Given the description of an element on the screen output the (x, y) to click on. 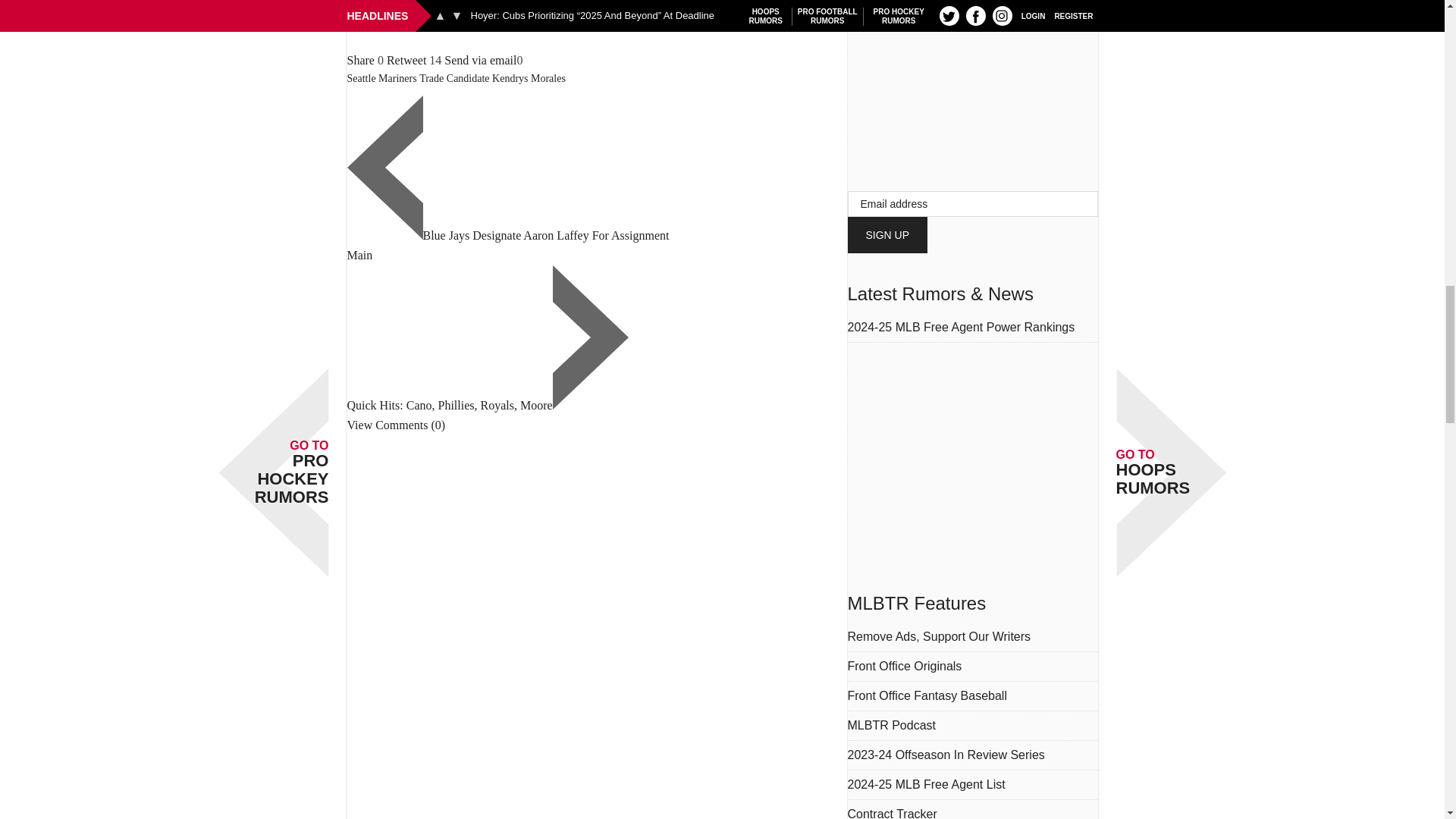
Share 'Trade Candidate: Kendrys Morales' on Facebook (360, 60)
Sign Up (887, 235)
Retweet 'Trade Candidate: Kendrys Morales' on Twitter (406, 60)
Send Trade Candidate: Kendrys Morales with an email (480, 60)
